Given the description of an element on the screen output the (x, y) to click on. 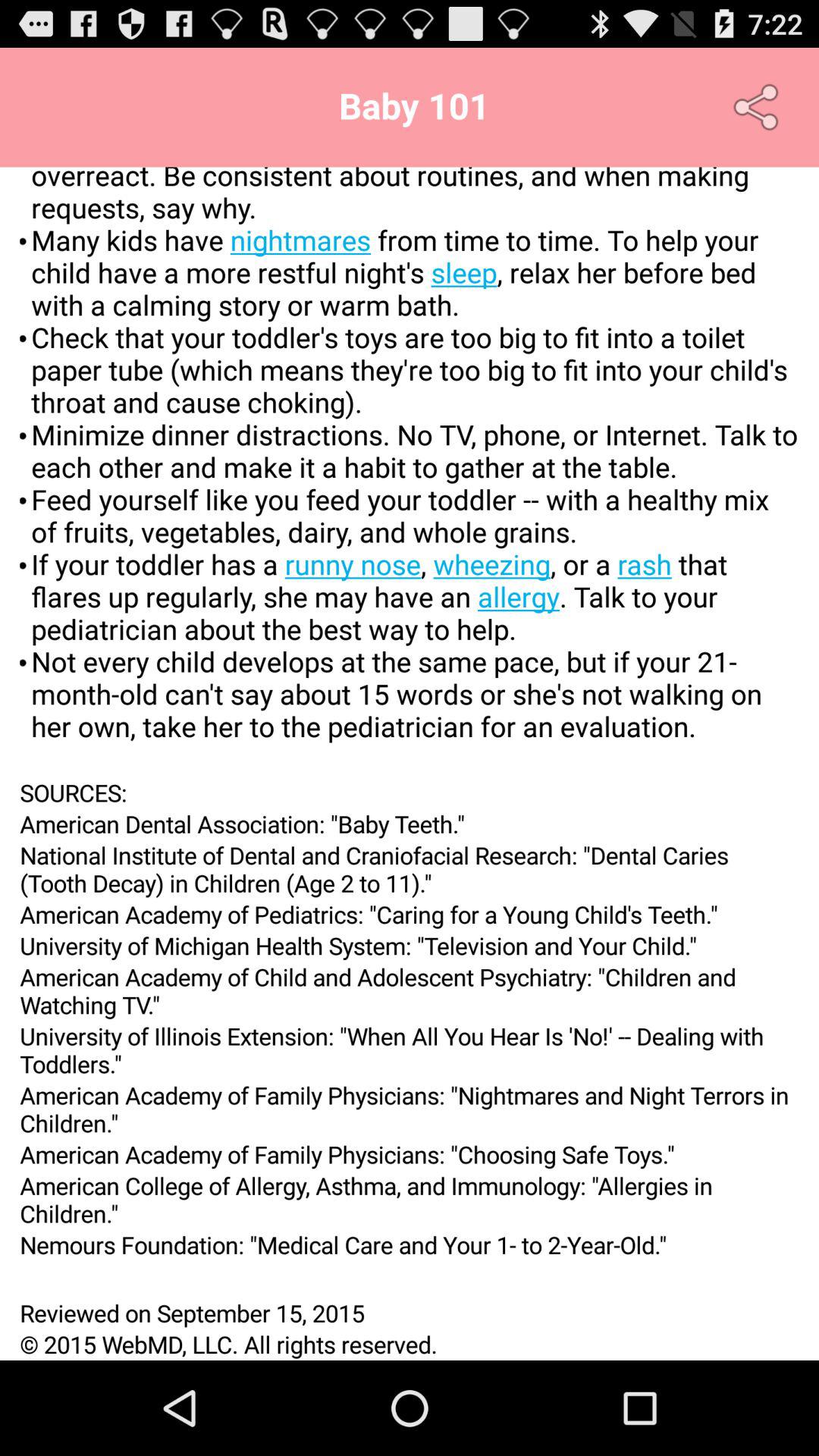
scroll until the national institute of item (409, 869)
